Given the description of an element on the screen output the (x, y) to click on. 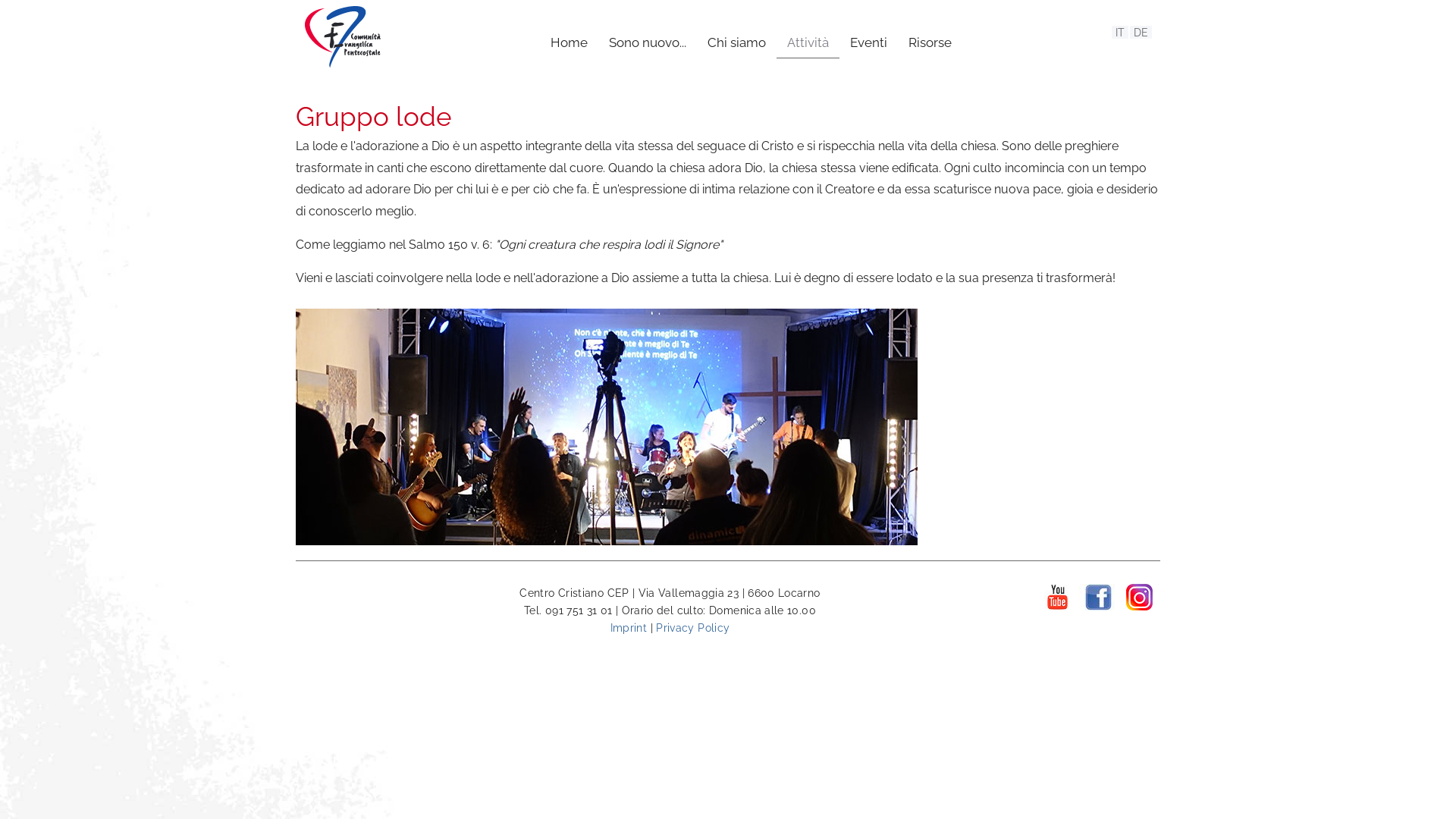
Centro Cristiano CEP Locarno Element type: hover (342, 63)
Privacy Policy Element type: text (692, 627)
DE Element type: text (1140, 32)
Sono nuovo... Element type: text (647, 42)
Risorse Element type: text (929, 42)
Home Element type: text (568, 42)
Chi siamo Element type: text (736, 42)
CepLocarno @ YouTube Element type: hover (1057, 596)
Imprint Element type: text (628, 627)
Eventi Element type: text (868, 42)
Instagram Element type: hover (1139, 596)
IT Element type: text (1119, 32)
